Given the description of an element on the screen output the (x, y) to click on. 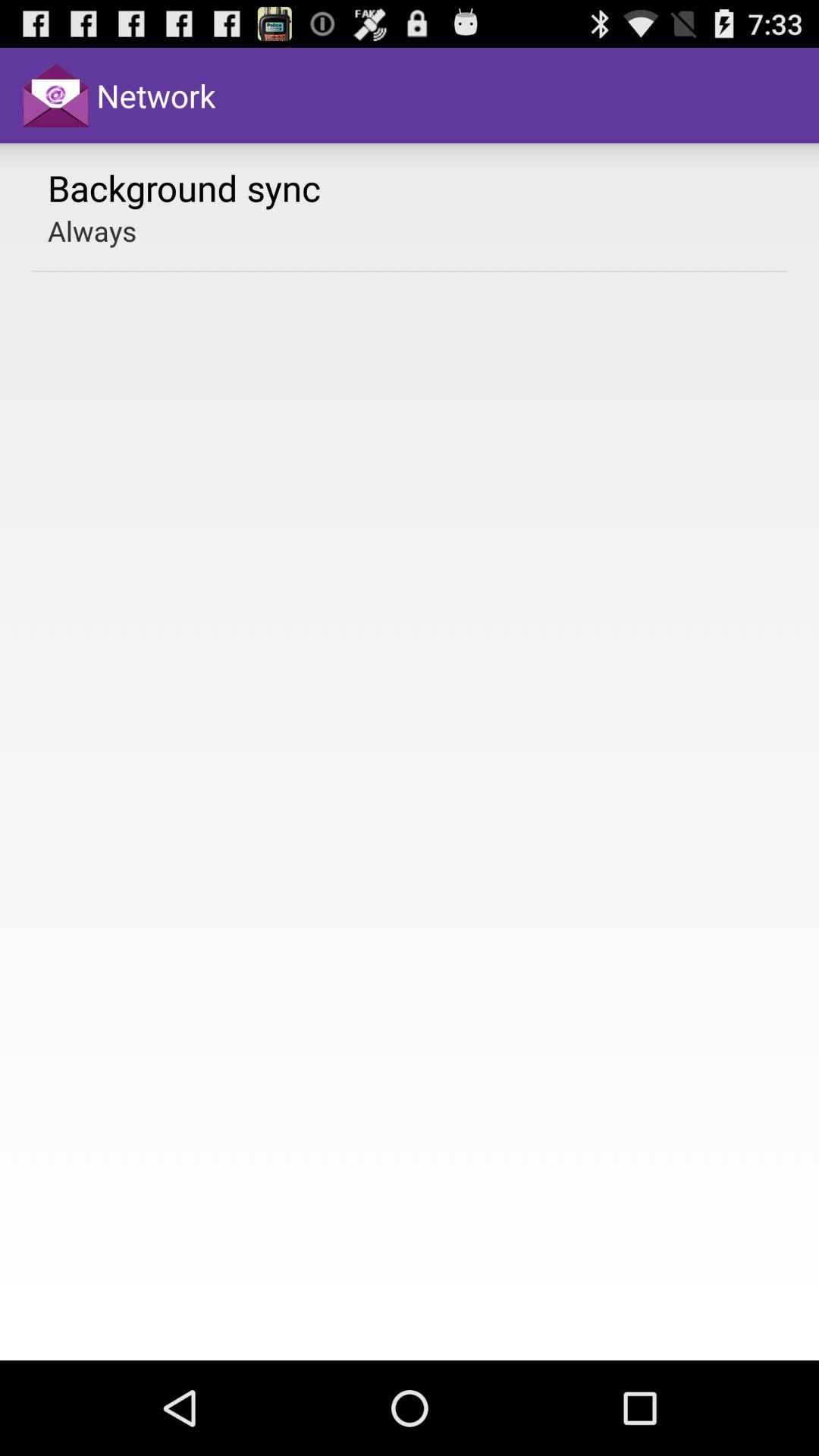
tap item below background sync app (91, 230)
